Given the description of an element on the screen output the (x, y) to click on. 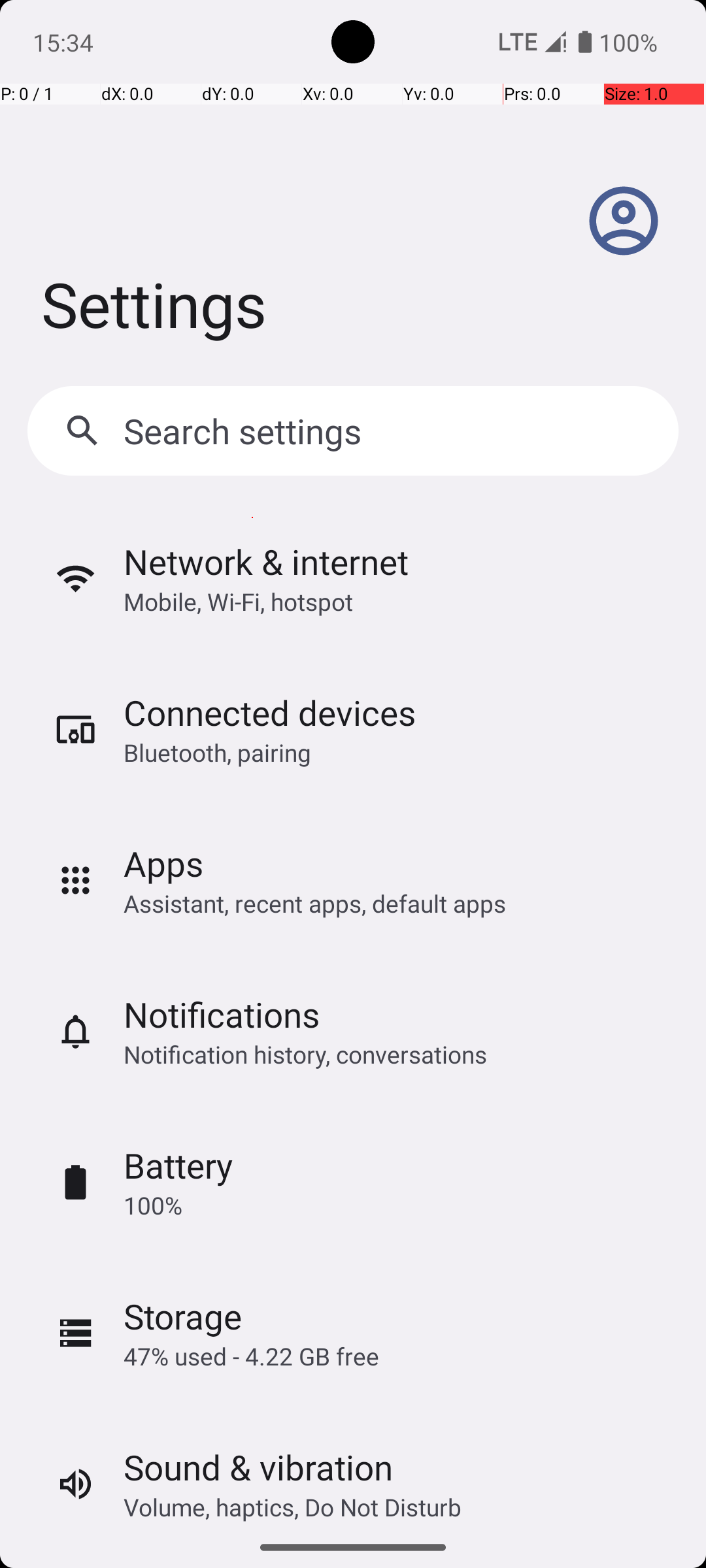
47% used - 4.22 GB free Element type: android.widget.TextView (251, 1355)
